Given the description of an element on the screen output the (x, y) to click on. 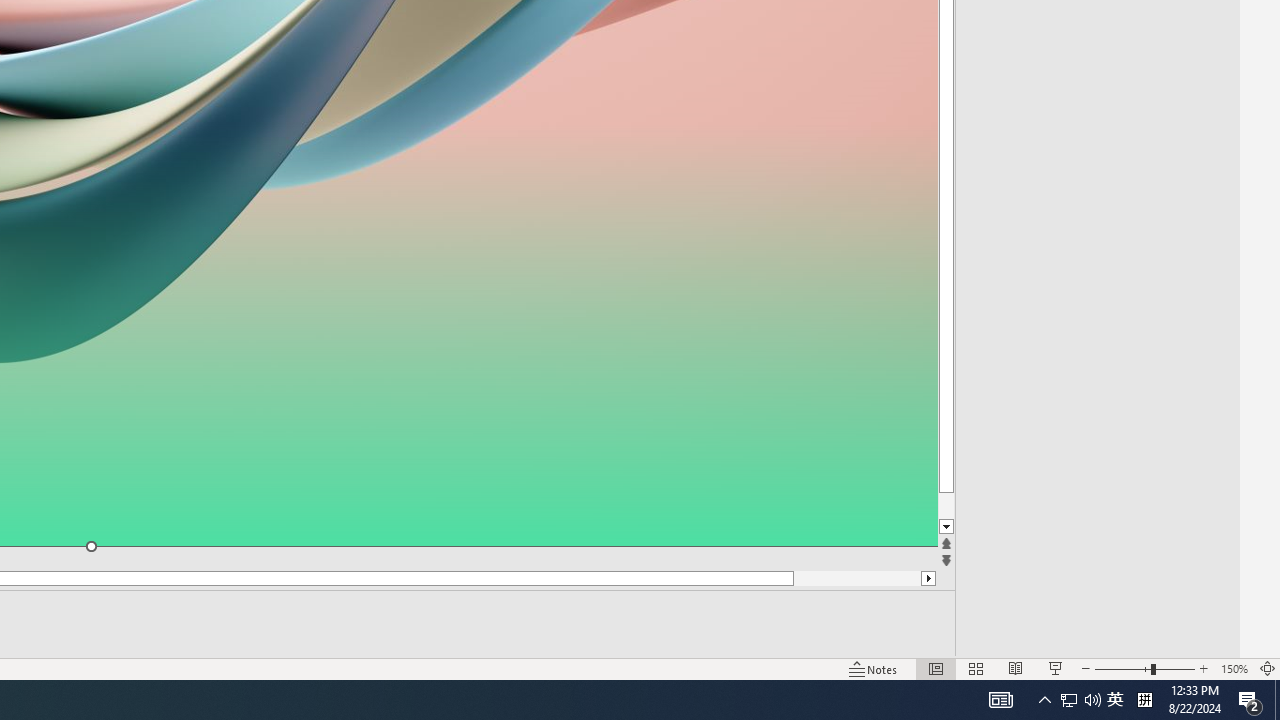
Reading View (1015, 668)
Show desktop (1277, 699)
Slide Sorter (975, 668)
Action Center, 2 new notifications (1069, 699)
Line down (1250, 699)
Normal (983, 527)
Notes  (936, 668)
Zoom (874, 668)
Tray Input Indicator - Chinese (Simplified, China) (1115, 699)
User Promoted Notification Area (1144, 668)
Notification Chevron (1144, 699)
Zoom to Fit  (1080, 699)
